Given the description of an element on the screen output the (x, y) to click on. 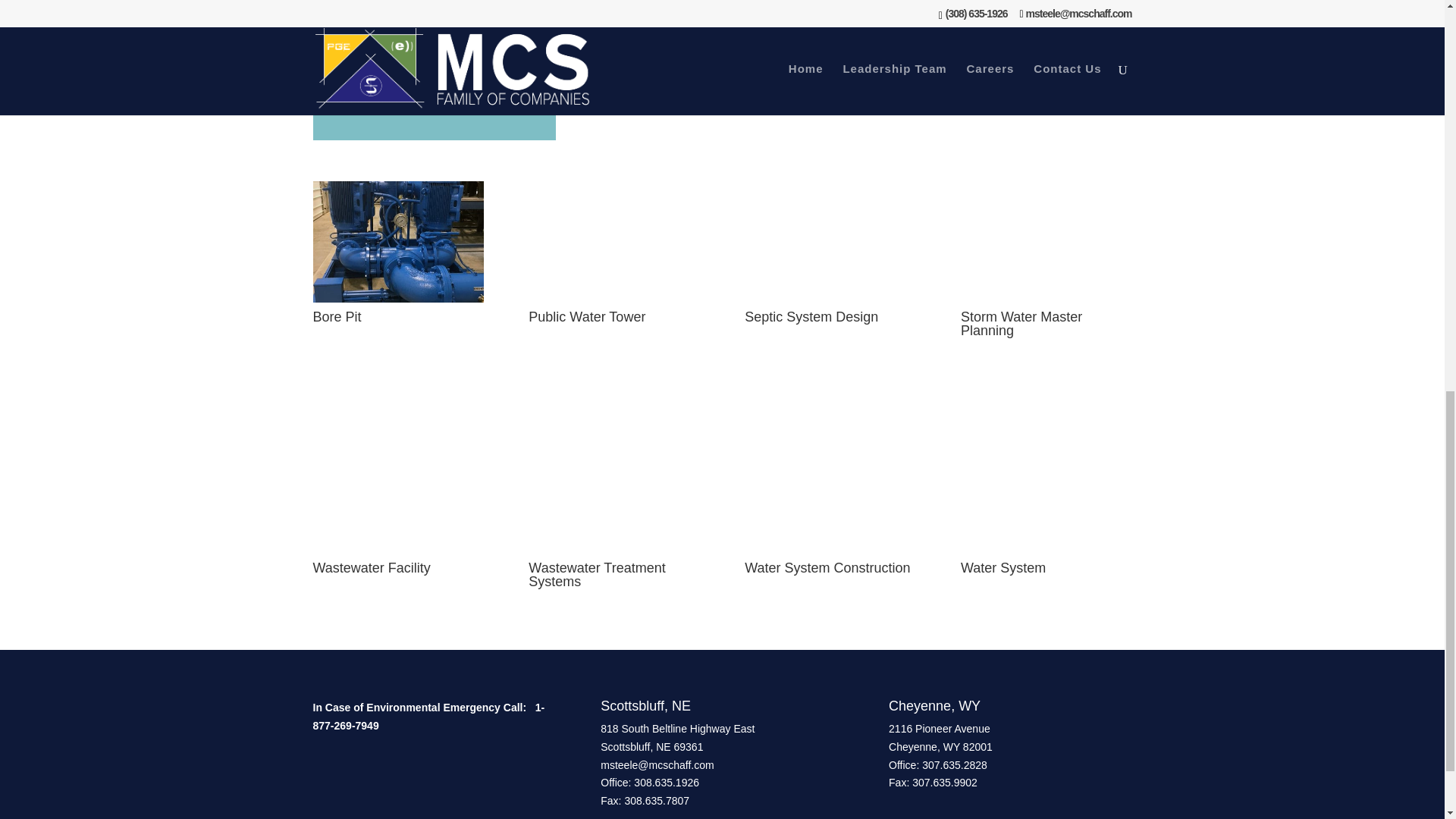
Water System (1045, 549)
Wastewater Facility (398, 549)
Wastewater Treatment Systems (613, 549)
Bore Pit (398, 298)
Water System Construction (829, 549)
Septic System Design (829, 192)
Storm Water Master Planning (1045, 192)
Public Water Tower (613, 192)
